Given the description of an element on the screen output the (x, y) to click on. 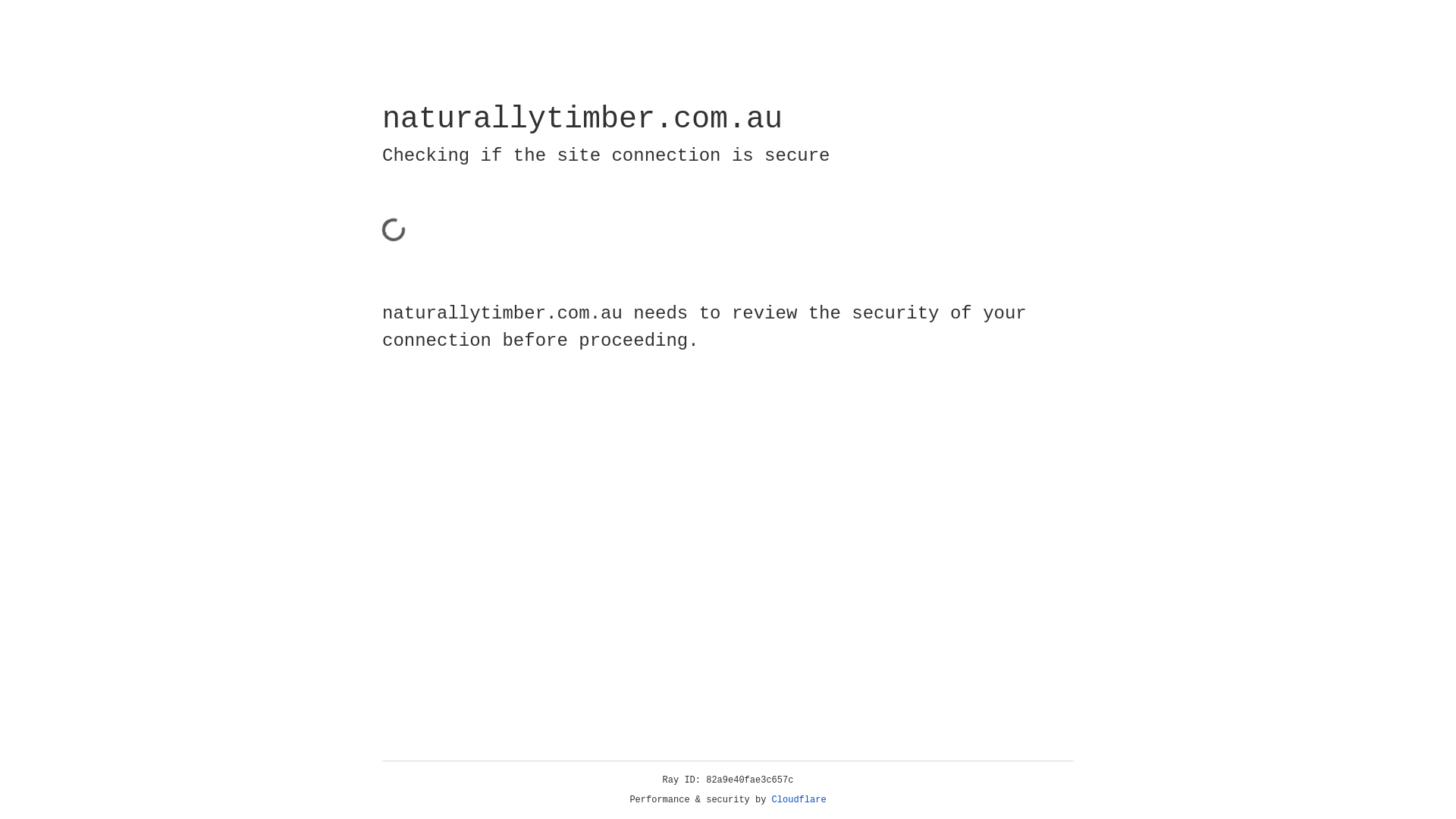
Cloudflare Element type: text (798, 799)
